Given the description of an element on the screen output the (x, y) to click on. 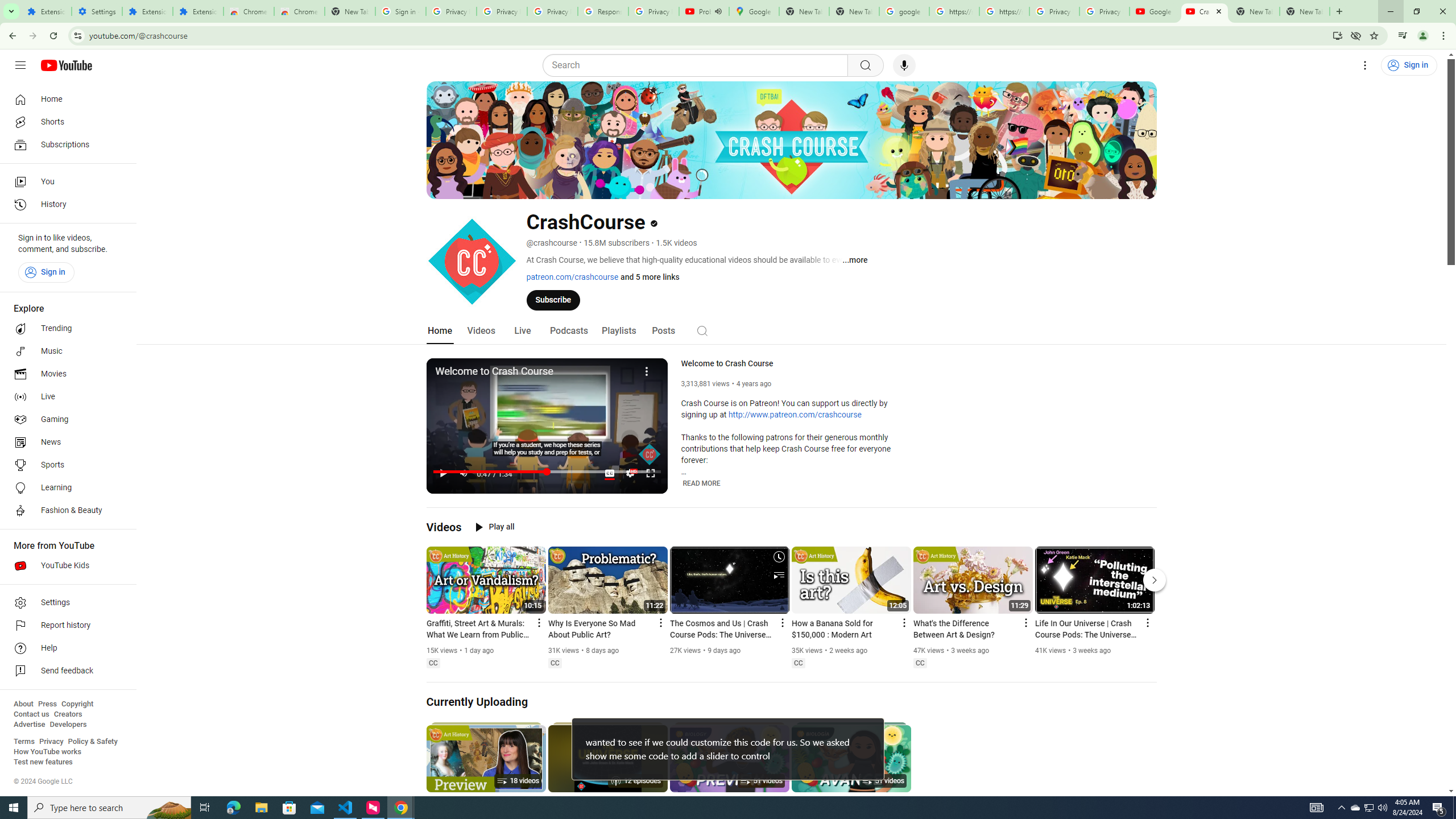
YouTube Kids (64, 565)
Close (1219, 11)
Subscriptions (64, 144)
Subtitles/closed captions unavailable (609, 472)
http://www.patreon.com/crashcourse (794, 414)
READ MORE (701, 482)
READ MORE (701, 483)
Sign in (45, 272)
Search (701, 330)
Contact us (31, 714)
Gaming (64, 419)
Fashion & Beauty (64, 510)
Policy & Safety (91, 741)
